Given the description of an element on the screen output the (x, y) to click on. 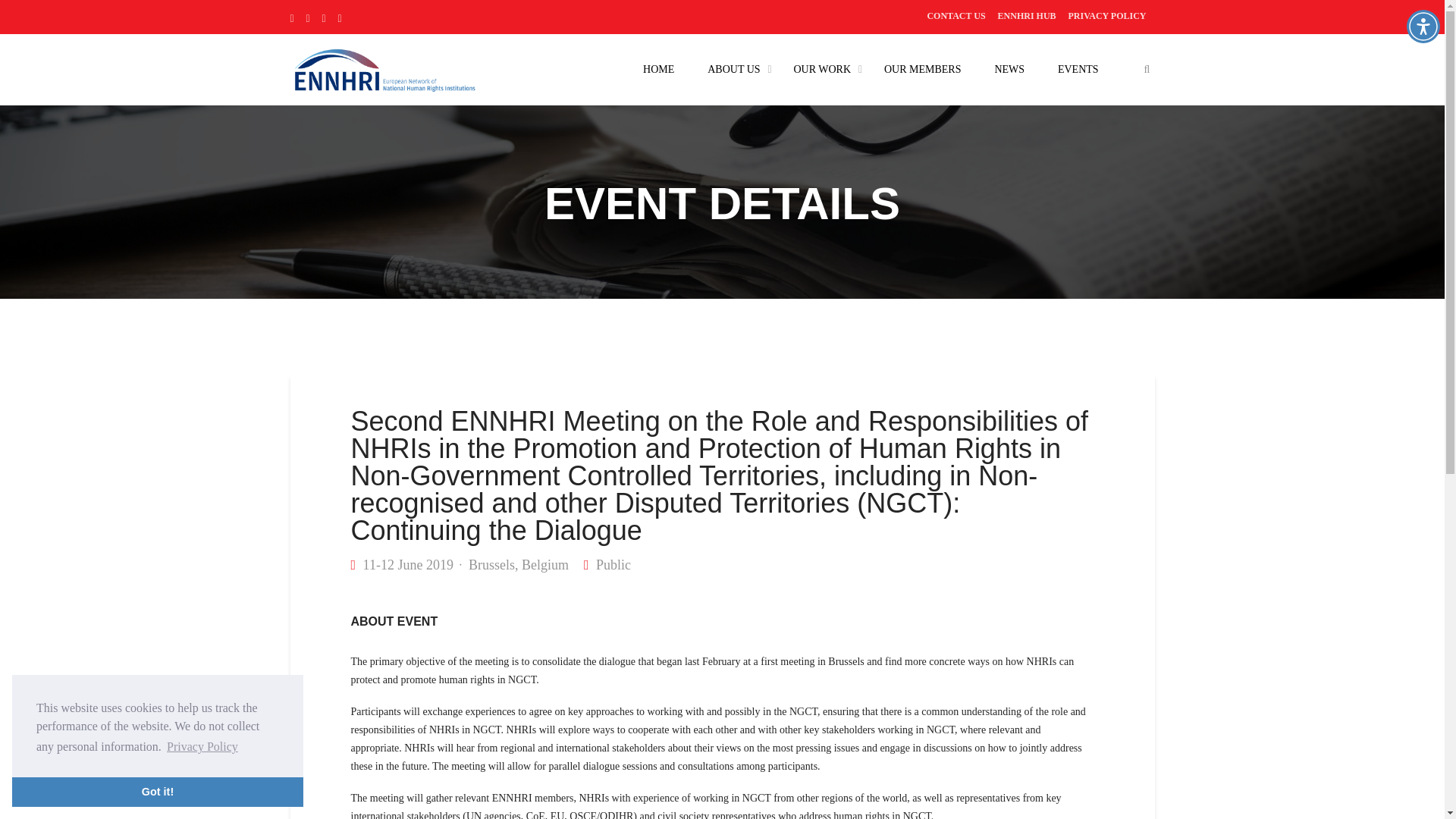
HOME (657, 69)
ENNHRI HUB (1026, 15)
Logo (384, 68)
ABOUT US (733, 69)
Accessibility Menu (1422, 26)
OUR WORK (821, 69)
PRIVACY POLICY (1106, 15)
CONTACT US (955, 15)
Privacy Policy (202, 746)
Got it! (156, 791)
